Given the description of an element on the screen output the (x, y) to click on. 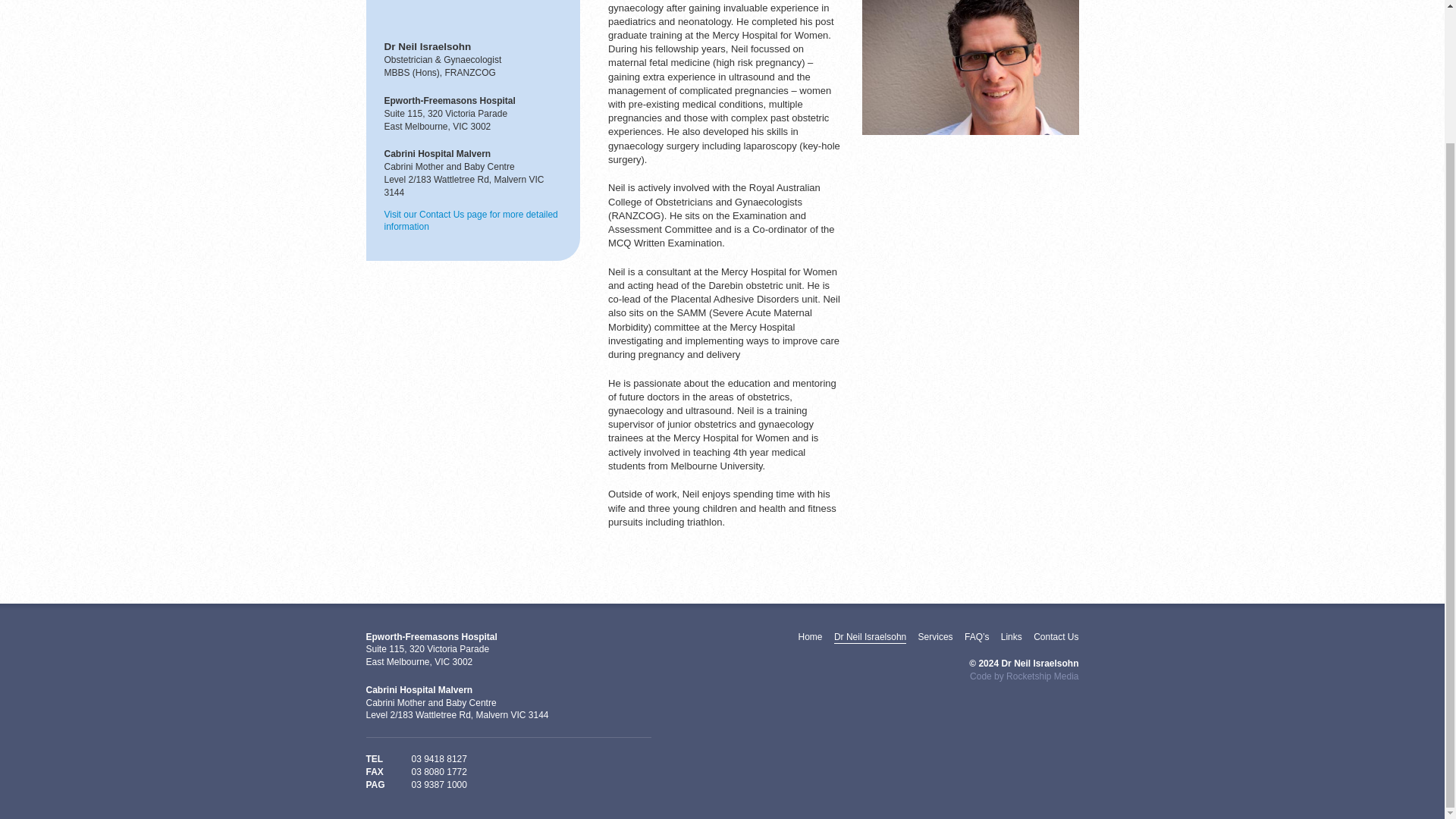
Home (809, 636)
03 9387 1000 (437, 784)
03 8080 1772 (437, 771)
Contact Us (1055, 636)
Dr Neil Israelsohn (869, 636)
Links (1011, 636)
Services (935, 636)
Visit our Contact Us page for more detailed information (470, 220)
03 9418 8127 (437, 758)
Rocketship Media (1042, 675)
